Given the description of an element on the screen output the (x, y) to click on. 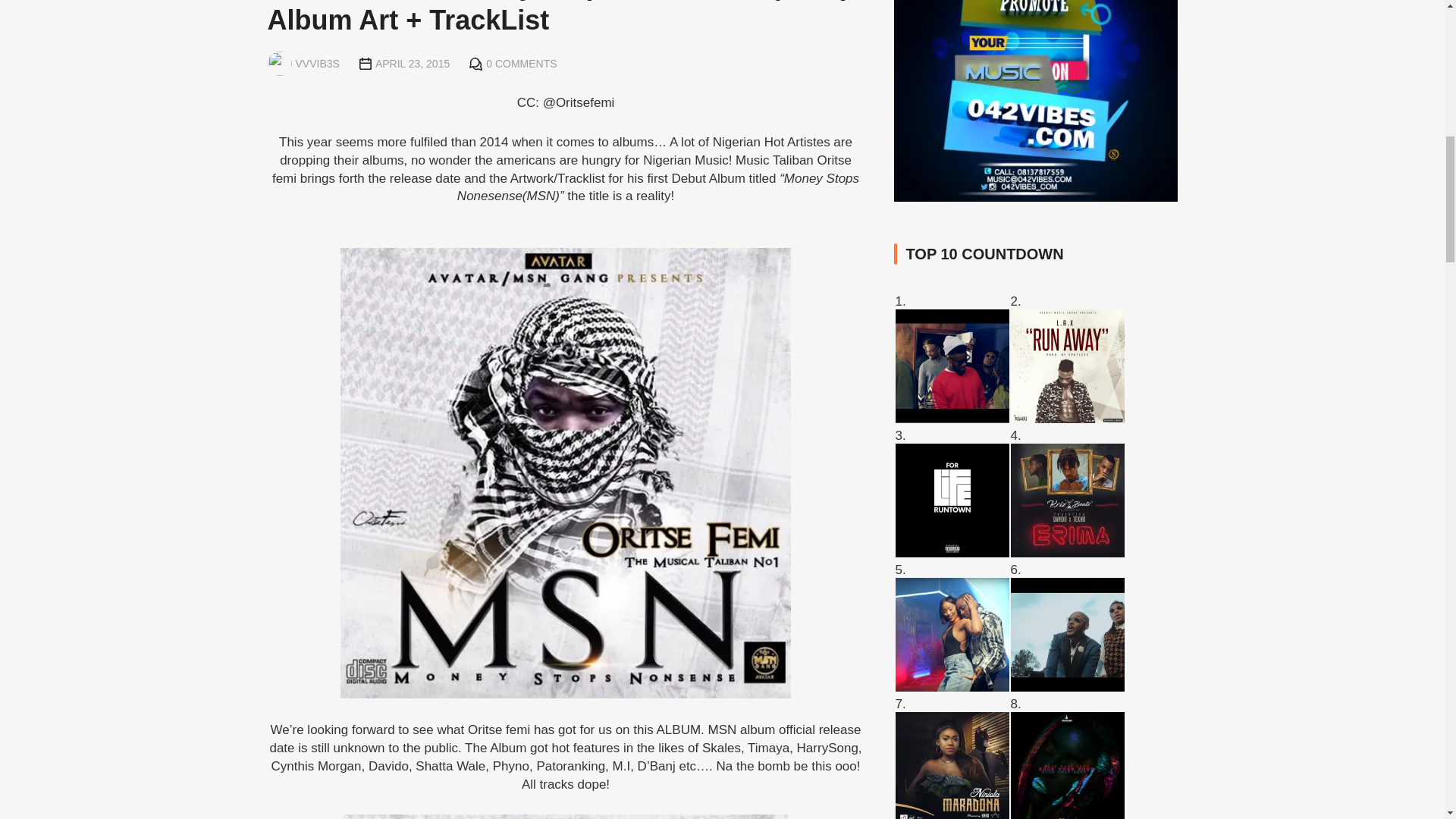
0 COMMENTS (521, 63)
